Given the description of an element on the screen output the (x, y) to click on. 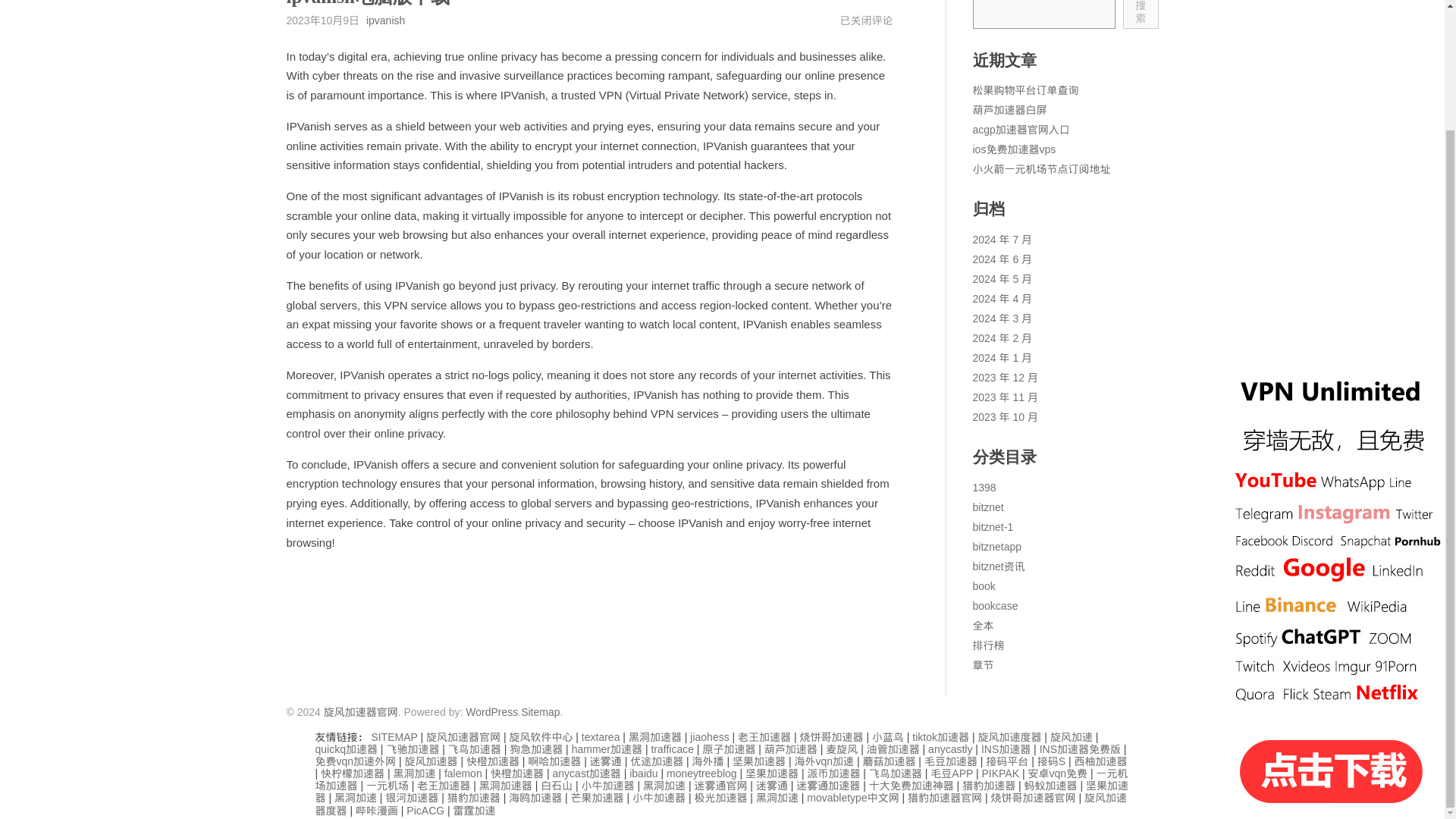
ipvanish (385, 20)
WordPress (491, 711)
bitznet (987, 507)
SITEMAP (393, 736)
bookcase (994, 605)
bitznet-1 (992, 526)
Sitemap (540, 711)
jiaohess (709, 736)
textarea (600, 736)
1398 (983, 487)
